Given the description of an element on the screen output the (x, y) to click on. 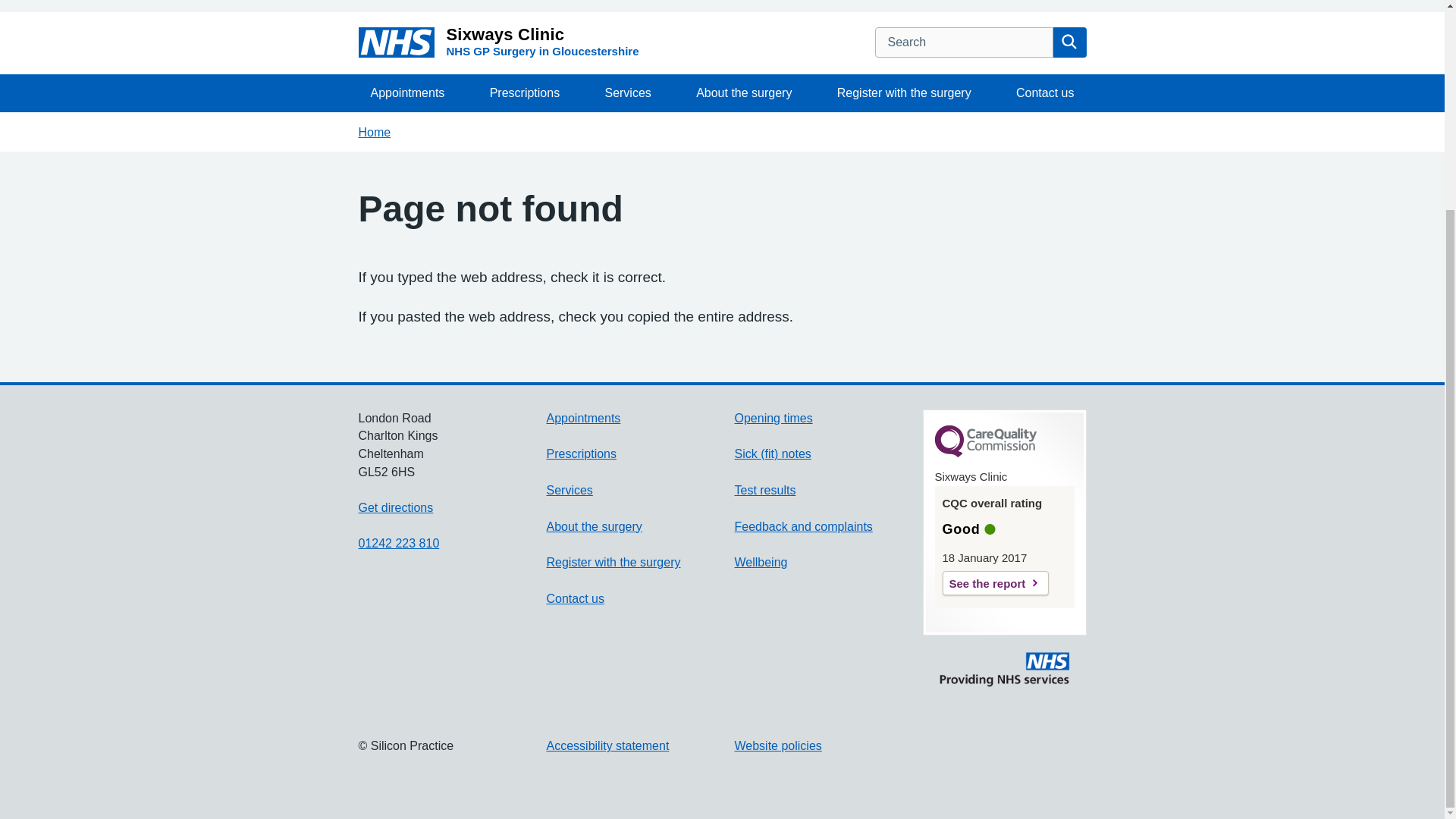
Opening times (772, 418)
Prescriptions (524, 93)
CQC Logo (984, 453)
Services (627, 93)
Appointments (407, 93)
Test results (763, 490)
Accessibility statement (607, 745)
Website policies (777, 745)
Services (569, 490)
Contact us (1045, 93)
Search (1069, 42)
Get directions (395, 507)
See the report (995, 582)
Prescriptions (580, 453)
About the surgery (743, 93)
